Given the description of an element on the screen output the (x, y) to click on. 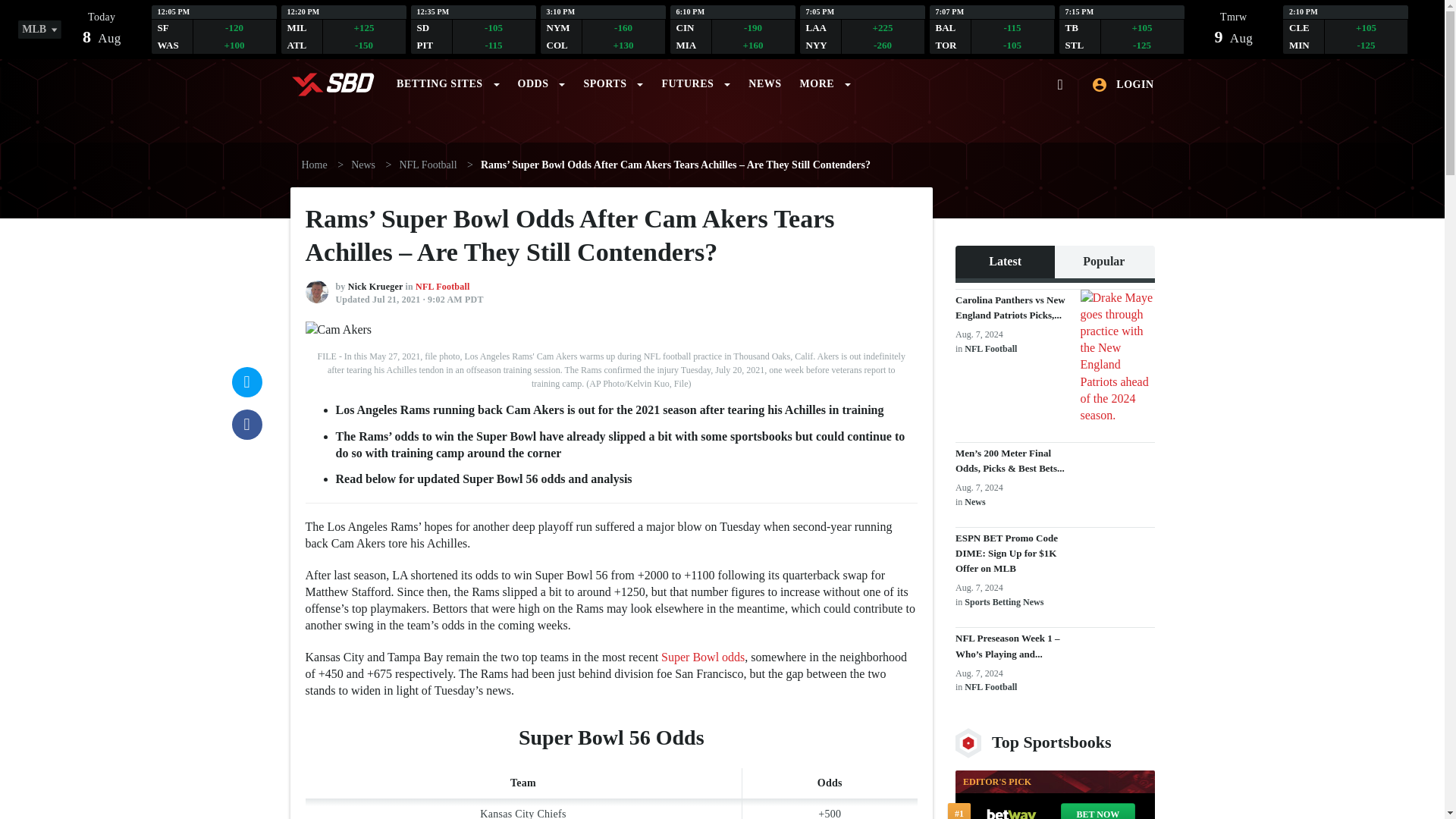
BETTING SITES (447, 79)
Sports Betting Sites (472, 29)
Sports League (447, 79)
